Given the description of an element on the screen output the (x, y) to click on. 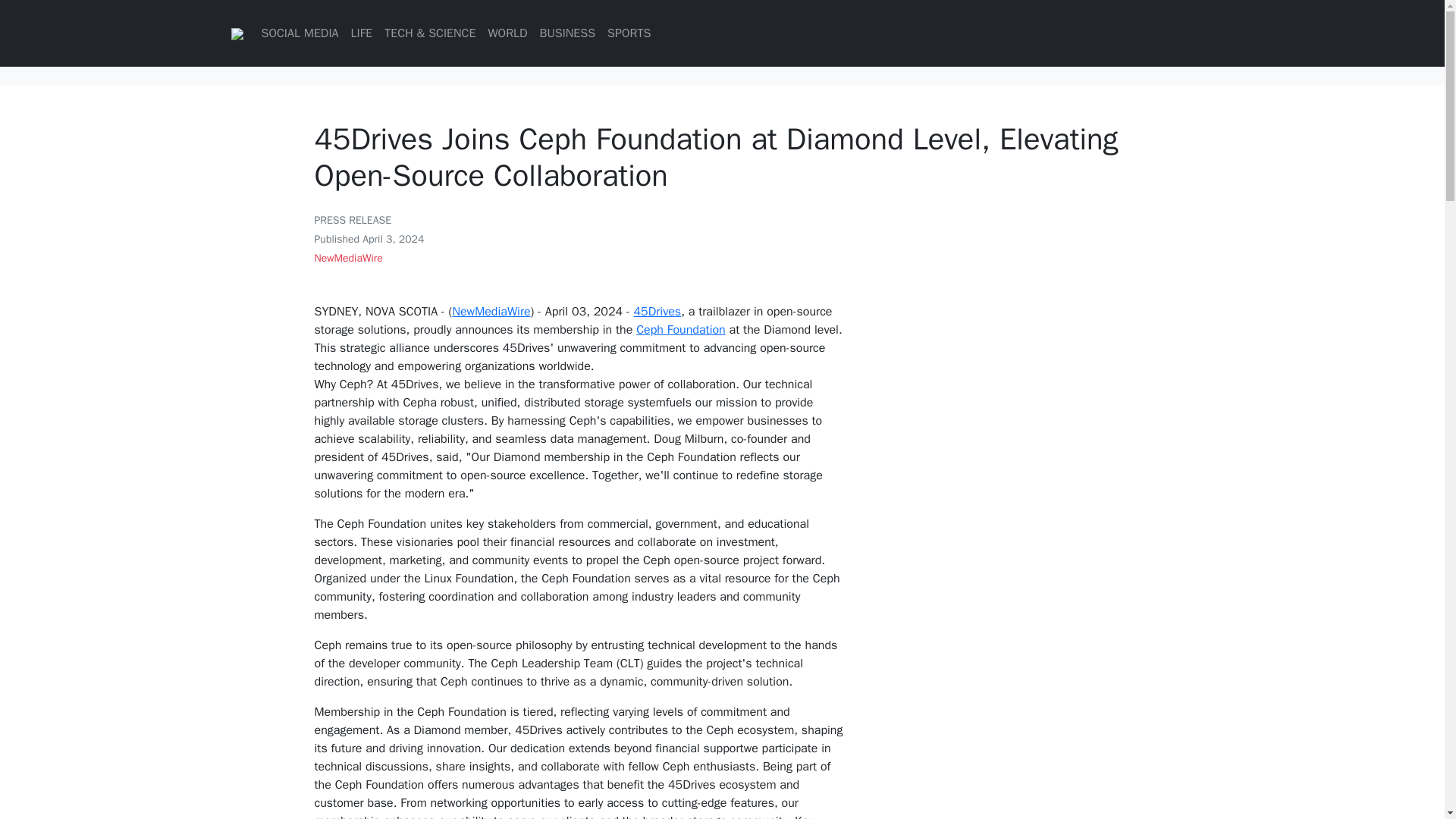
Ceph Foundation (680, 329)
LIFE (360, 33)
NewMediaWire (347, 257)
45Drives (657, 311)
BUSINESS (568, 33)
NewMediaWire (490, 311)
WORLD (506, 33)
SOCIAL MEDIA (298, 33)
SPORTS (628, 33)
